Given the description of an element on the screen output the (x, y) to click on. 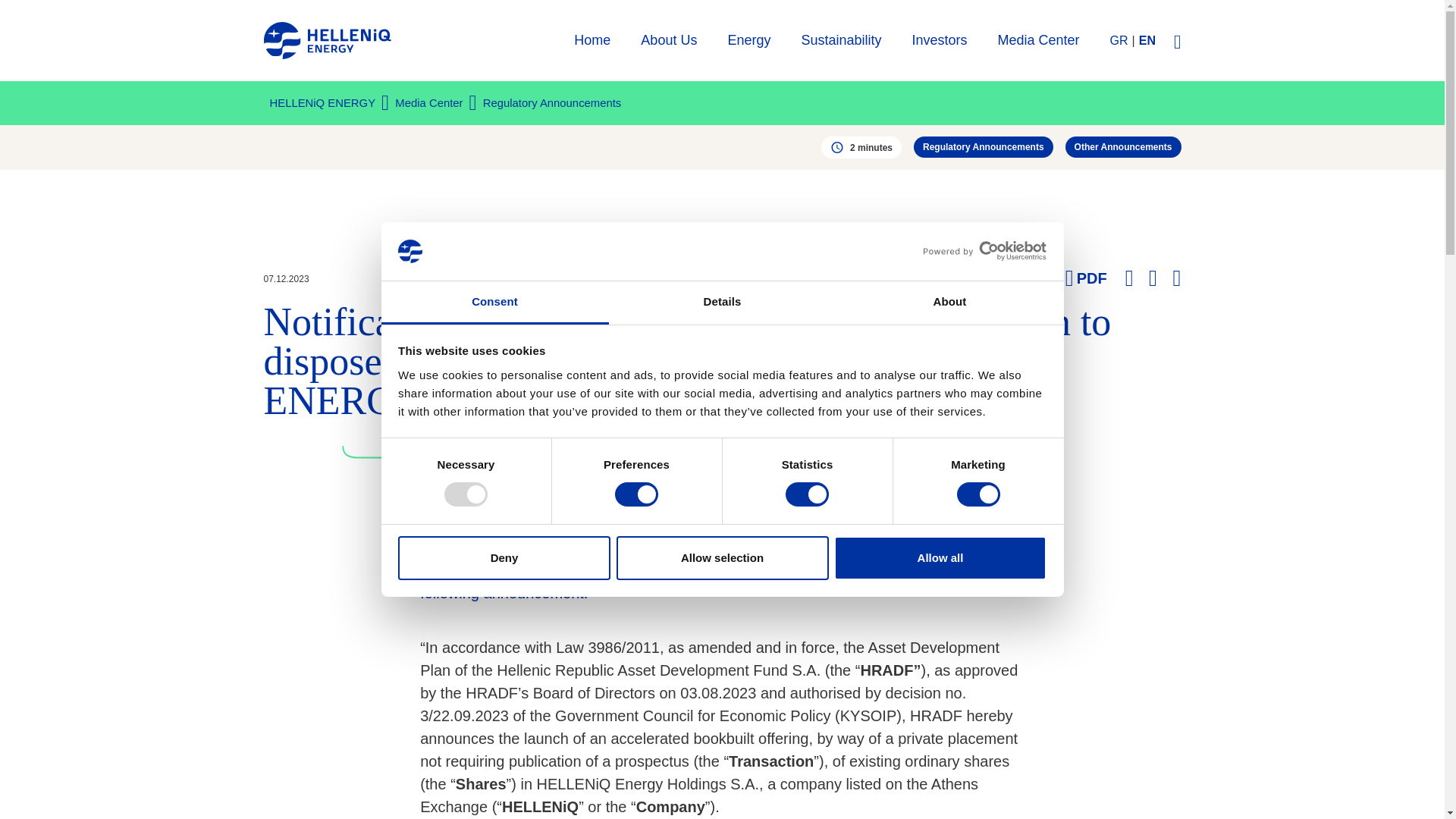
Deny (503, 557)
About Us (668, 39)
Allow selection (721, 557)
Allow all (940, 557)
About (948, 302)
Sustainability (840, 39)
Investors (940, 39)
Home (327, 40)
Media Center (1038, 39)
Energy (748, 39)
Details (721, 302)
Home (591, 39)
Consent (494, 302)
